Given the description of an element on the screen output the (x, y) to click on. 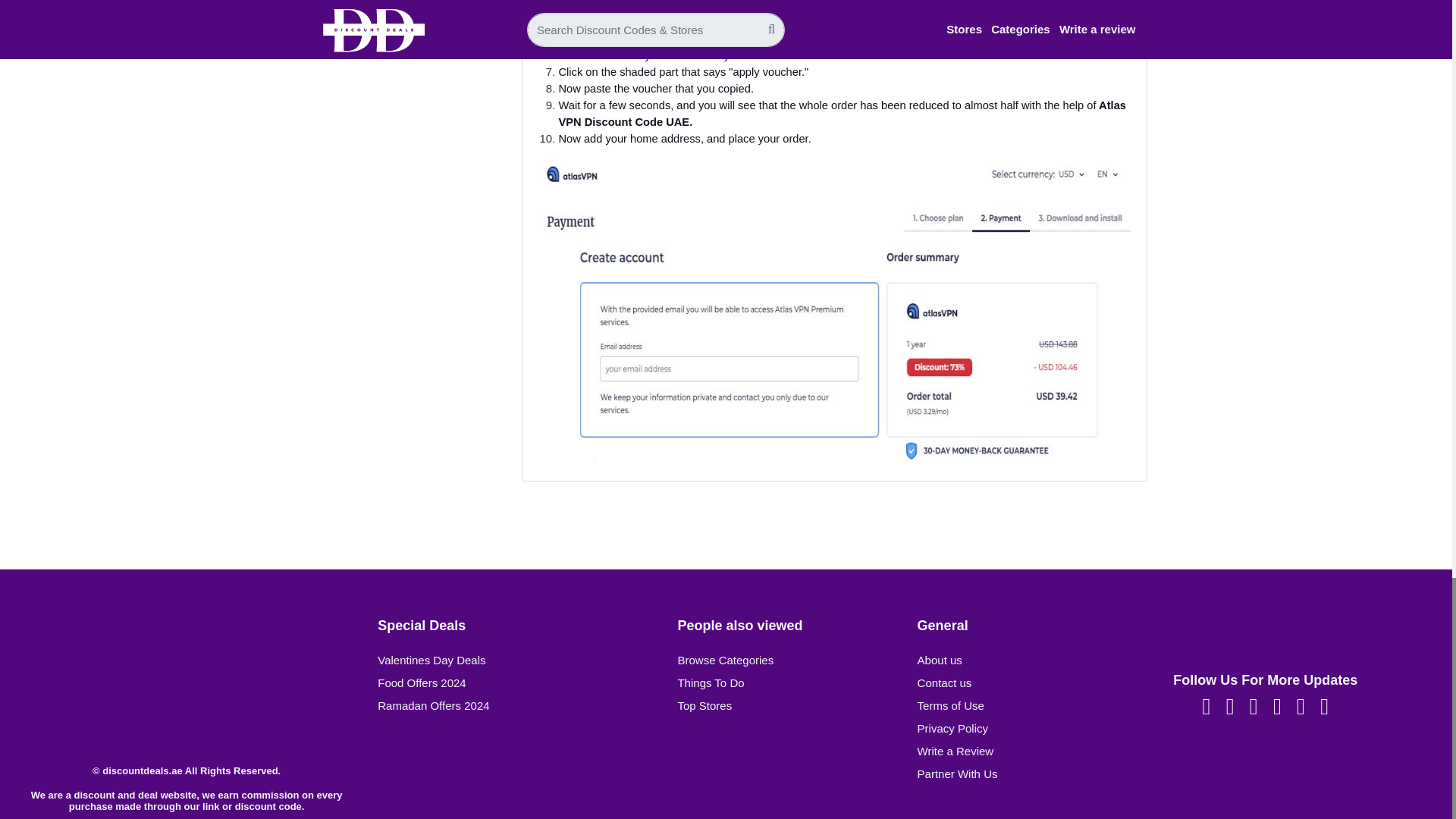
Valentines Day Deals (430, 659)
discountdeals.ae (186, 664)
